Given the description of an element on the screen output the (x, y) to click on. 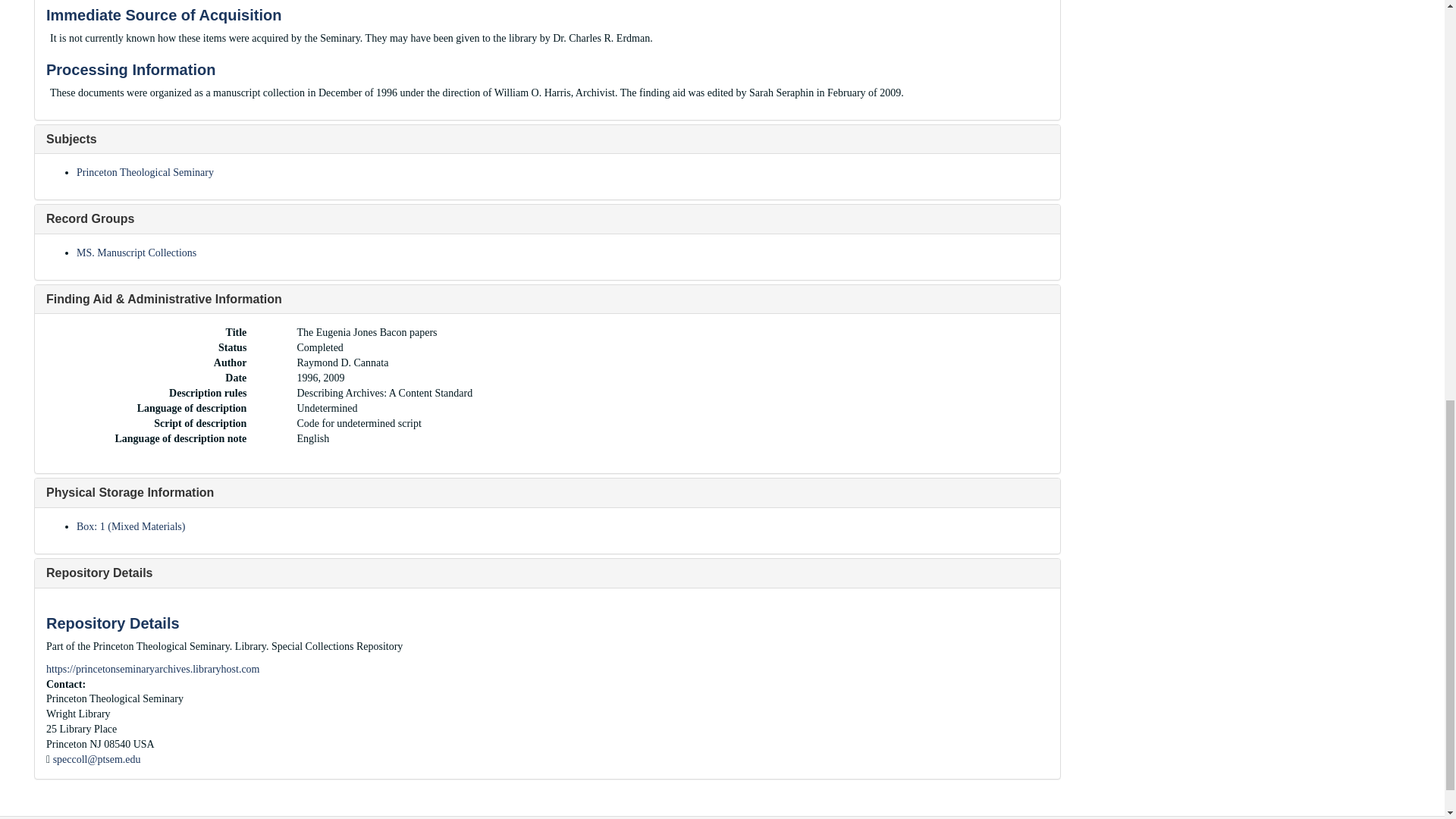
Princeton Theological Seminary (145, 172)
MS. Manuscript Collections (136, 252)
Record Groups (89, 218)
Physical Storage Information (130, 492)
Repository Details (99, 572)
Send email (96, 758)
Subjects (71, 138)
